Given the description of an element on the screen output the (x, y) to click on. 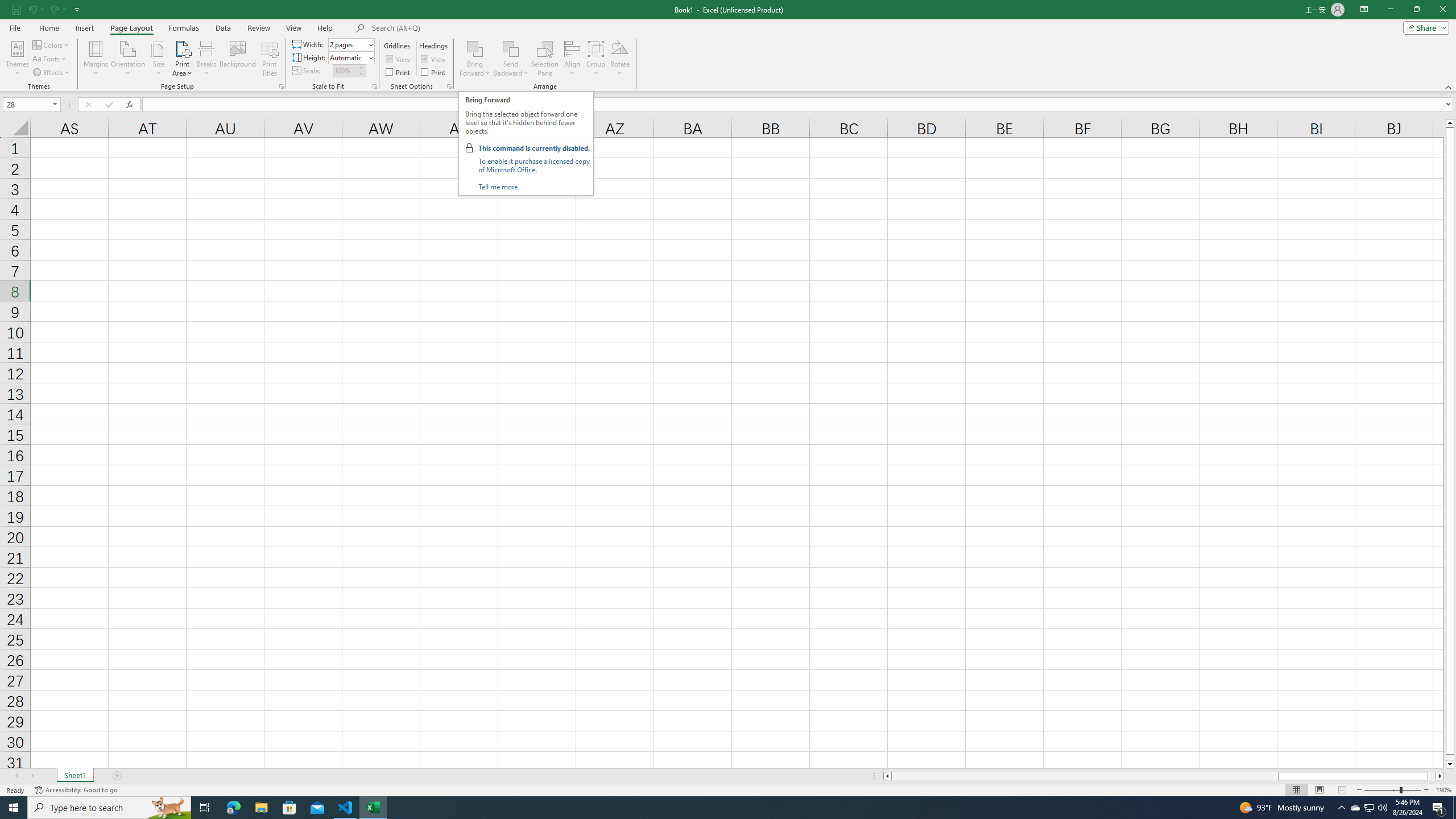
Align (571, 58)
Width (350, 44)
Background... (237, 58)
Orientation (128, 58)
Effects (51, 72)
Colors (51, 44)
